Given the description of an element on the screen output the (x, y) to click on. 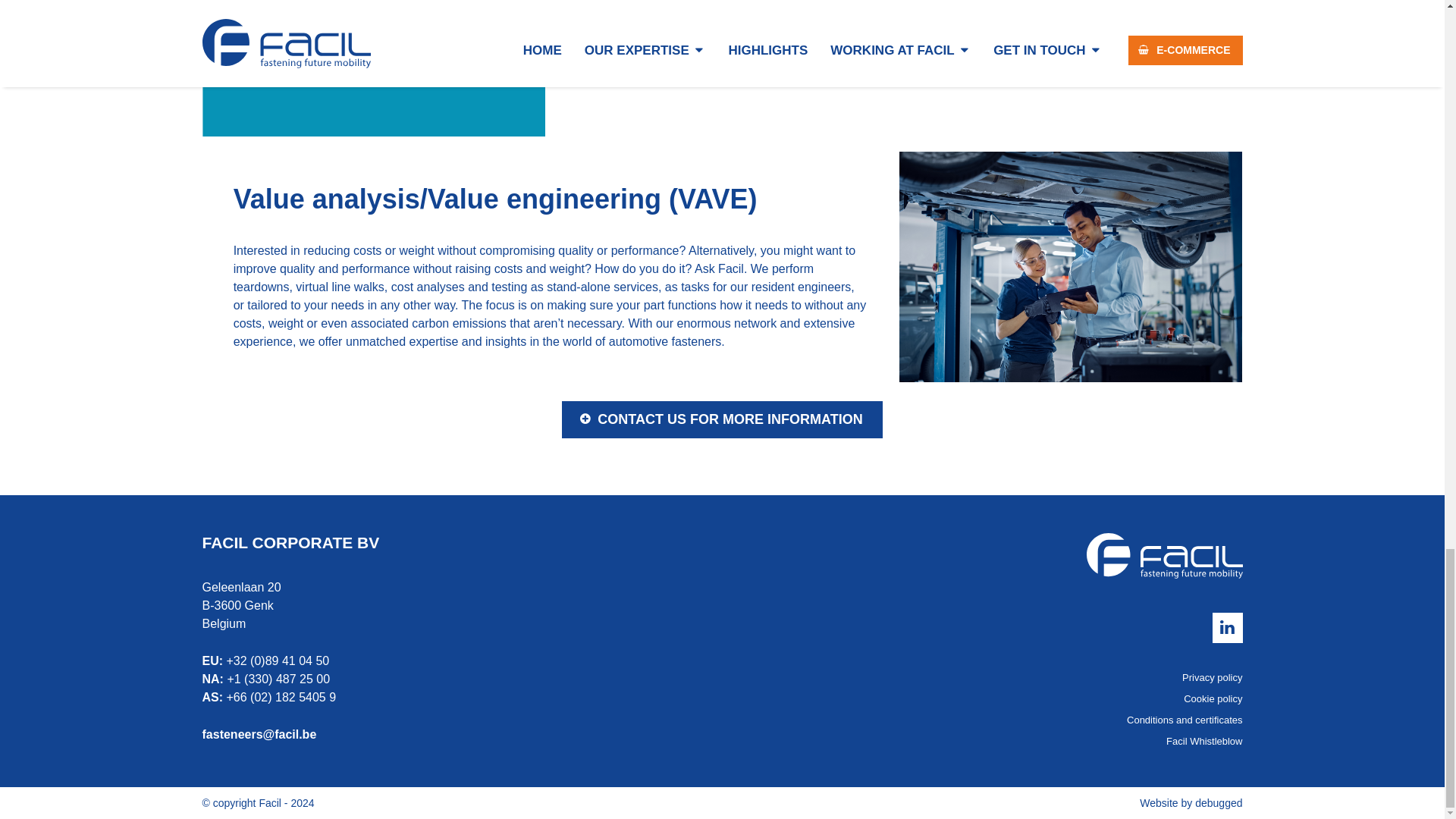
Conditions and certificates (853, 719)
Privacy policy (853, 677)
Cookie policy (853, 698)
CONTACT US FOR MORE INFORMATION (722, 419)
linkedin (1226, 627)
Facil Whistleblow (853, 741)
